Given the description of an element on the screen output the (x, y) to click on. 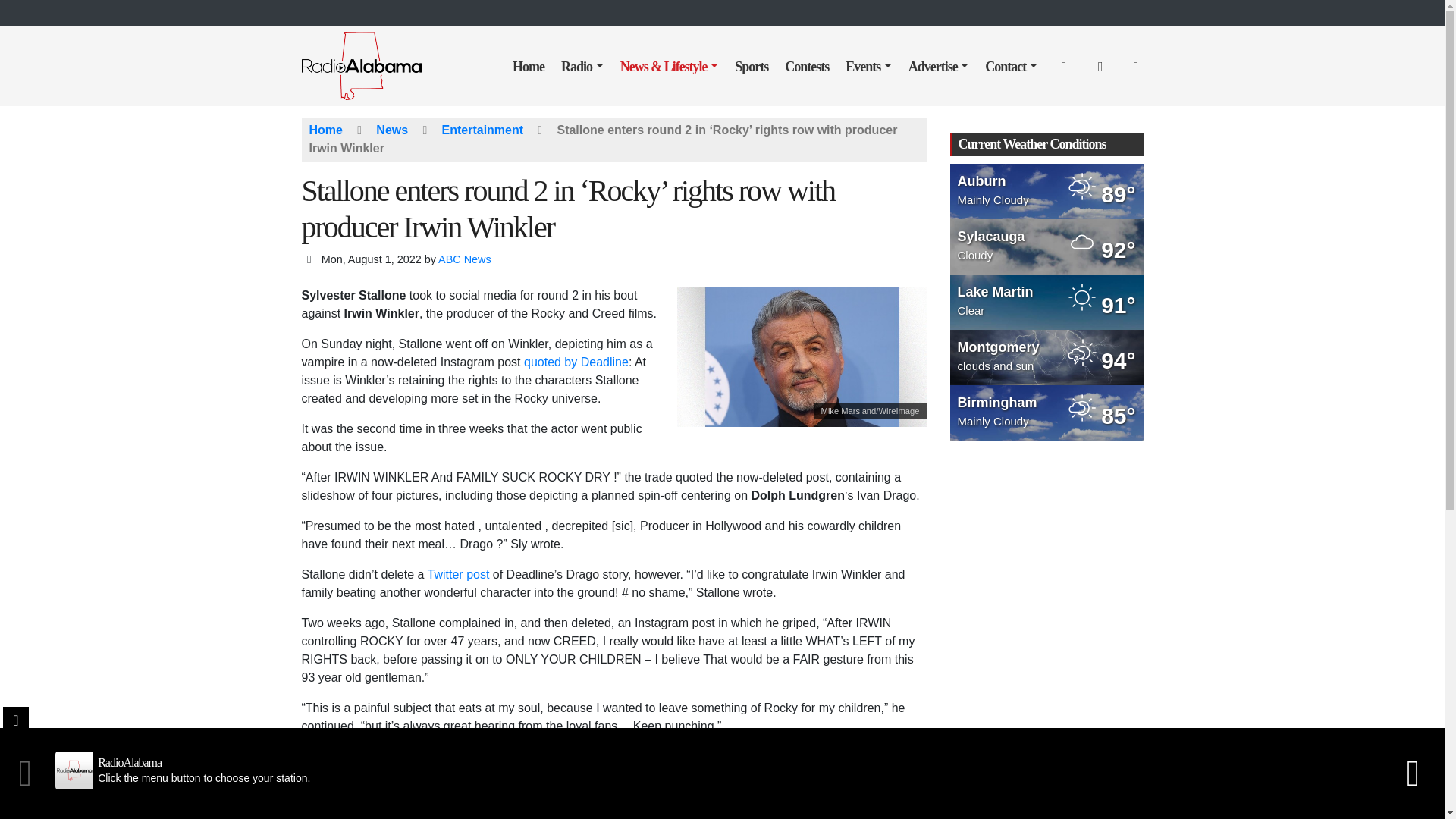
RadioAlabama (372, 64)
Posts by ABC News (465, 259)
